Given the description of an element on the screen output the (x, y) to click on. 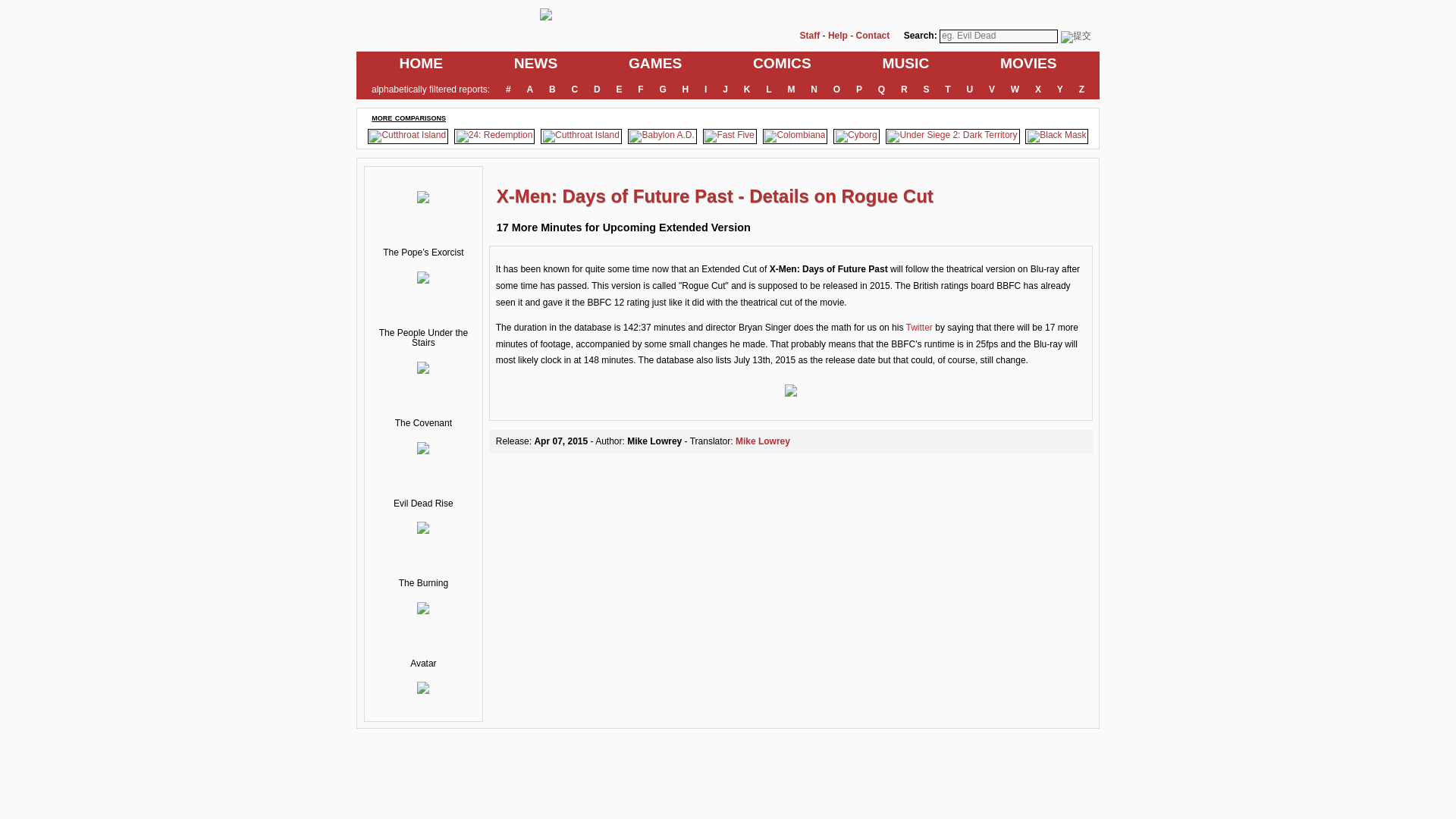
I (705, 90)
Help (837, 35)
HOME (421, 63)
D (596, 90)
COMICS (781, 63)
X (1038, 90)
The Burning from Amazon.com (422, 611)
Evil Dead Rise from Amazon.com (422, 530)
M (790, 90)
Cyborg (856, 136)
T (947, 90)
NEWS (535, 63)
A (529, 90)
MUSIC (906, 63)
J (725, 90)
